Given the description of an element on the screen output the (x, y) to click on. 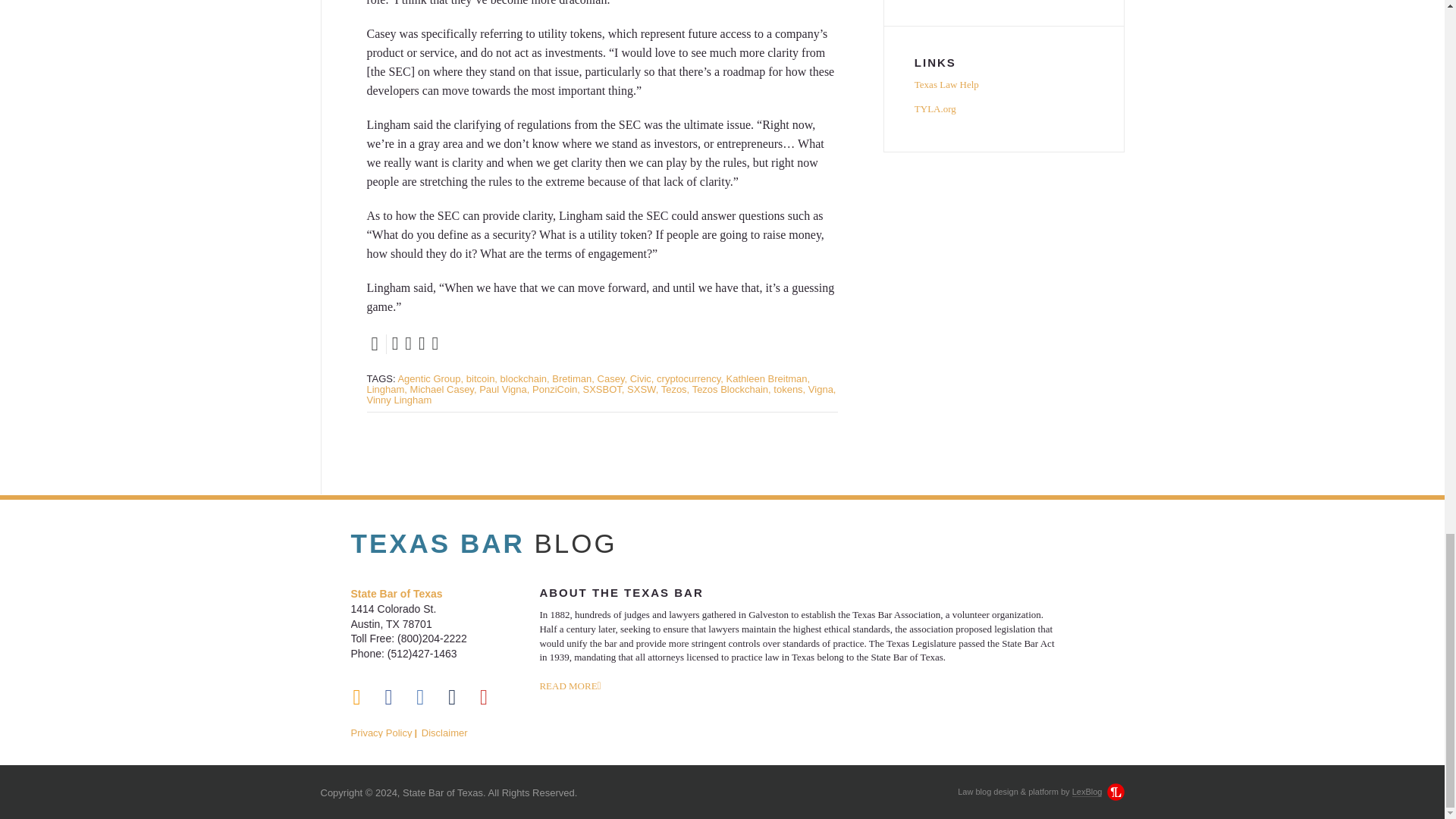
PonziCoin, (555, 389)
Vigna, (821, 389)
SXSW, (642, 389)
Bretiman, (572, 378)
Kathleen Breitman, (768, 378)
Casey, (611, 378)
blockchain, (525, 378)
Michael Casey, (443, 389)
cryptocurrency, (689, 378)
Like this post (409, 343)
bitcoin, (481, 378)
Share this post on LinkedIn (436, 343)
Email this post (422, 343)
SXSBOT, (603, 389)
Tezos, (675, 389)
